Given the description of an element on the screen output the (x, y) to click on. 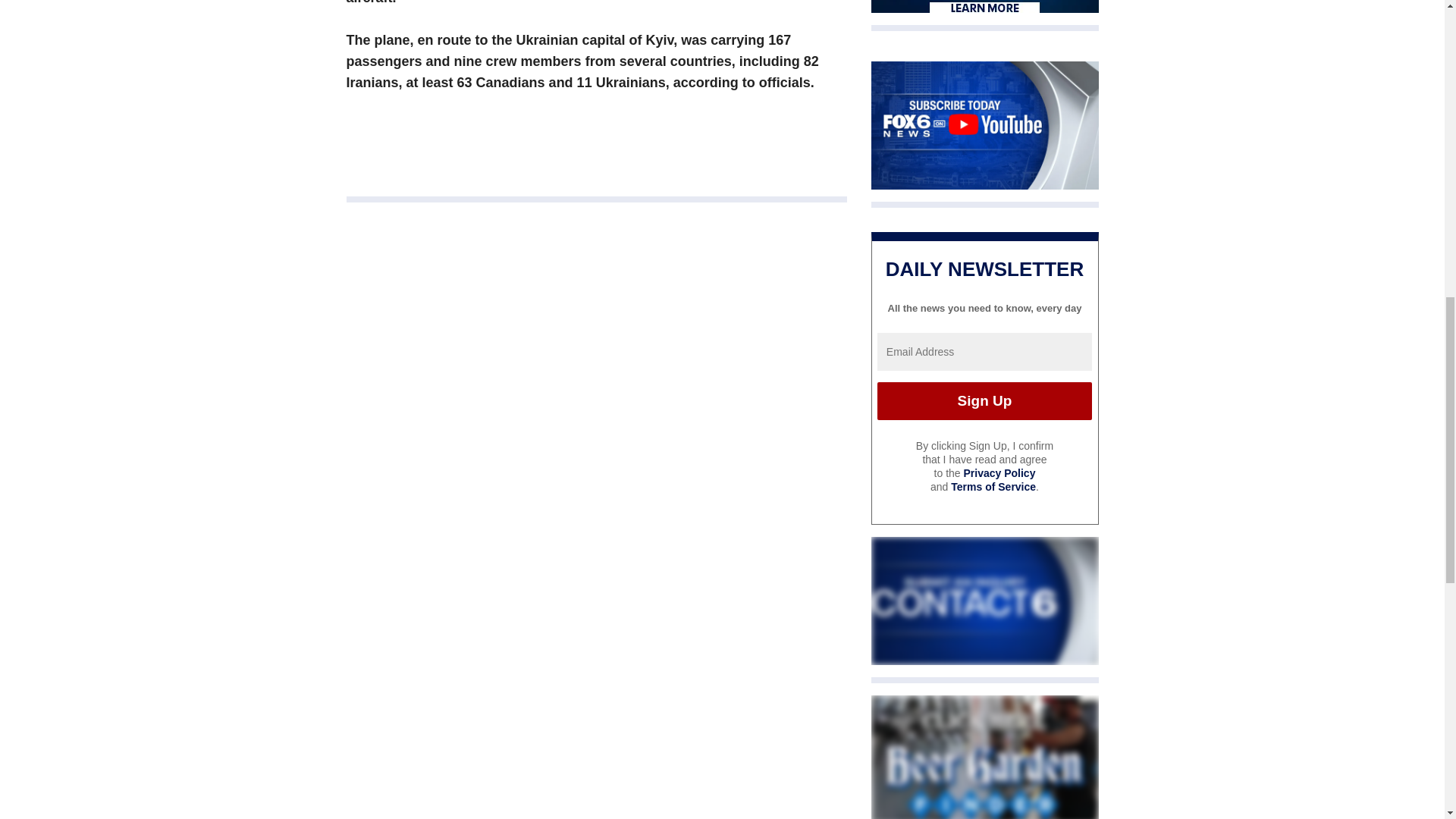
Sign Up (984, 401)
